Given the description of an element on the screen output the (x, y) to click on. 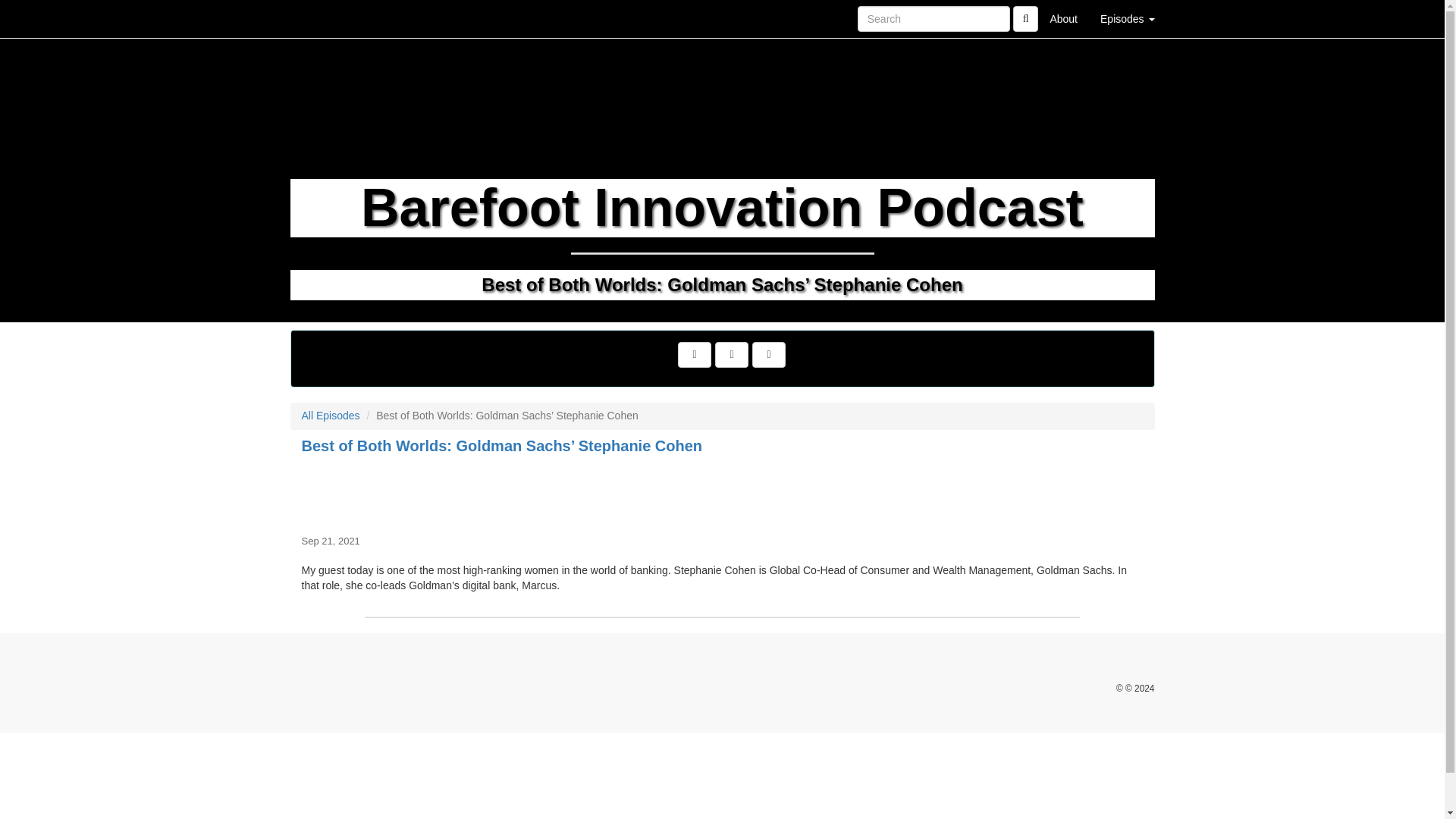
Home Page (320, 18)
Episodes (1127, 18)
About (1063, 18)
